Given the description of an element on the screen output the (x, y) to click on. 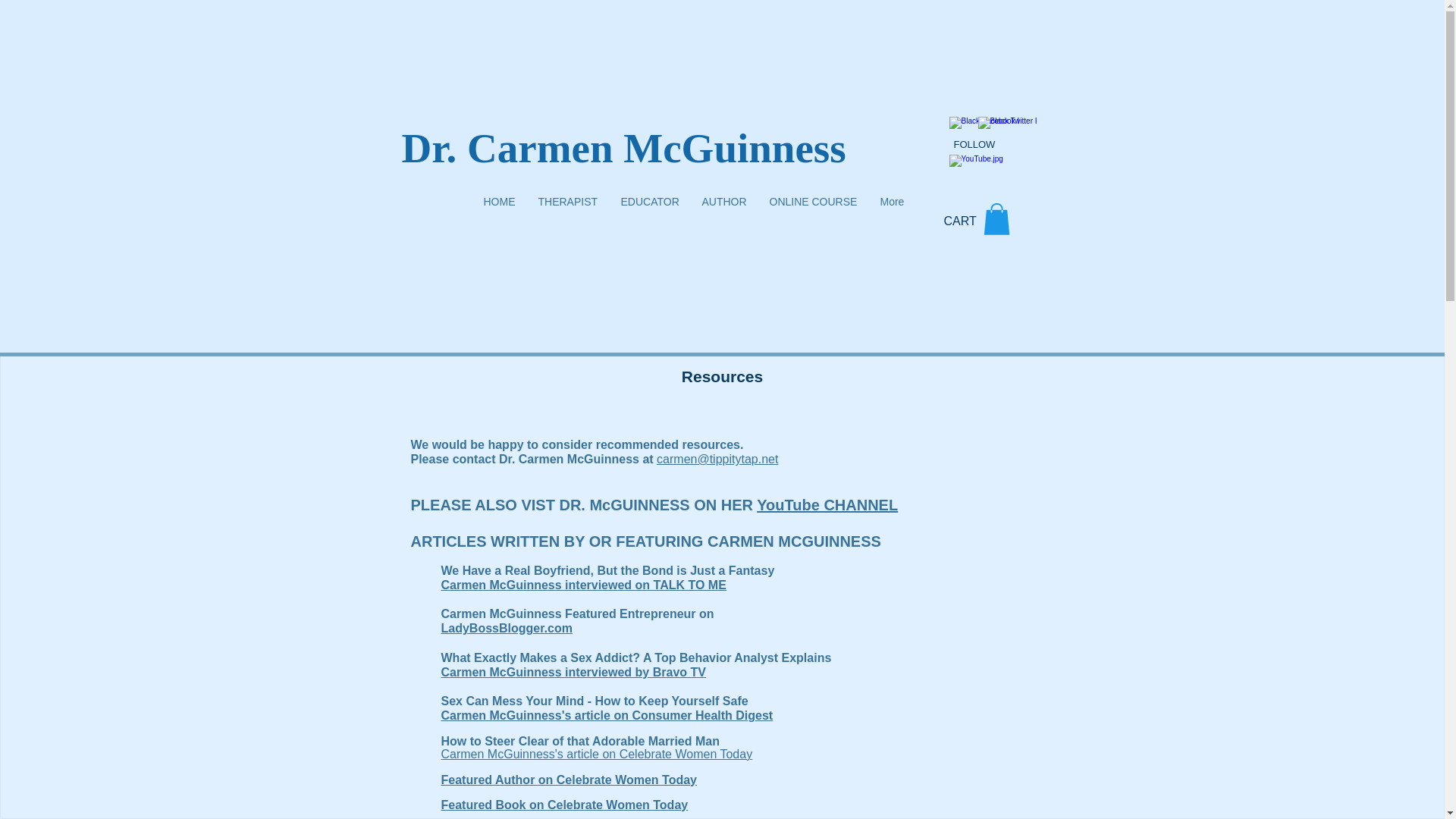
EDUCATOR (650, 201)
Carmen McGuinness interviewed by Bravo TV (573, 671)
HOME (498, 201)
Featured Book on Celebrate Women Today (564, 805)
AUTHOR (723, 201)
THERAPIST (566, 201)
ONLINE COURSE (813, 201)
Carmen McGuinness's article on Consumer Health Digest (607, 715)
Carmen McGuinness's article on Celebrate Women Today (596, 754)
LadyBossBlogger.com (506, 627)
Featured Author on Celebrate Women Today (569, 779)
YouTube CHANNEL (827, 504)
Dr. Carmen McGuinness (623, 148)
Carmen McGuinness interviewed on TALK TO ME (583, 584)
